Given the description of an element on the screen output the (x, y) to click on. 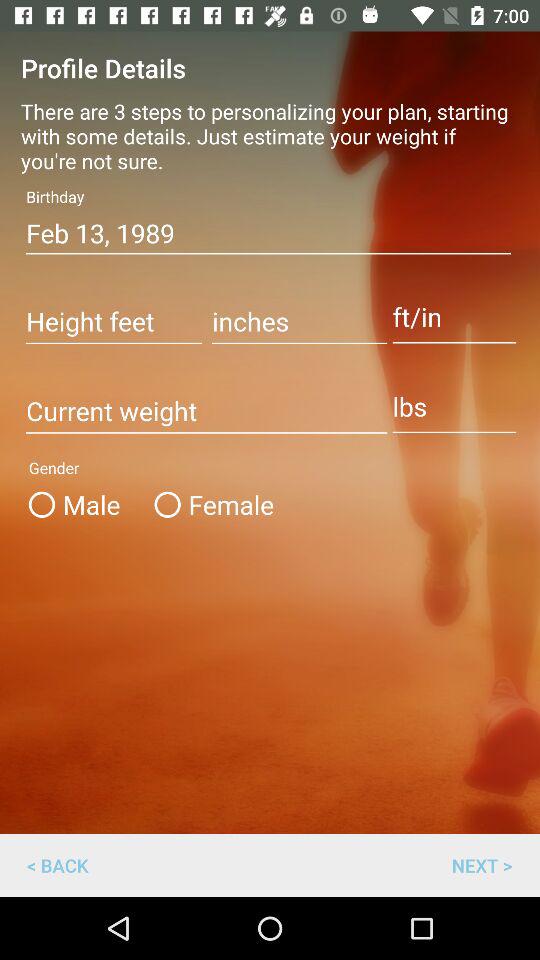
turn off icon below the gender item (482, 864)
